Given the description of an element on the screen output the (x, y) to click on. 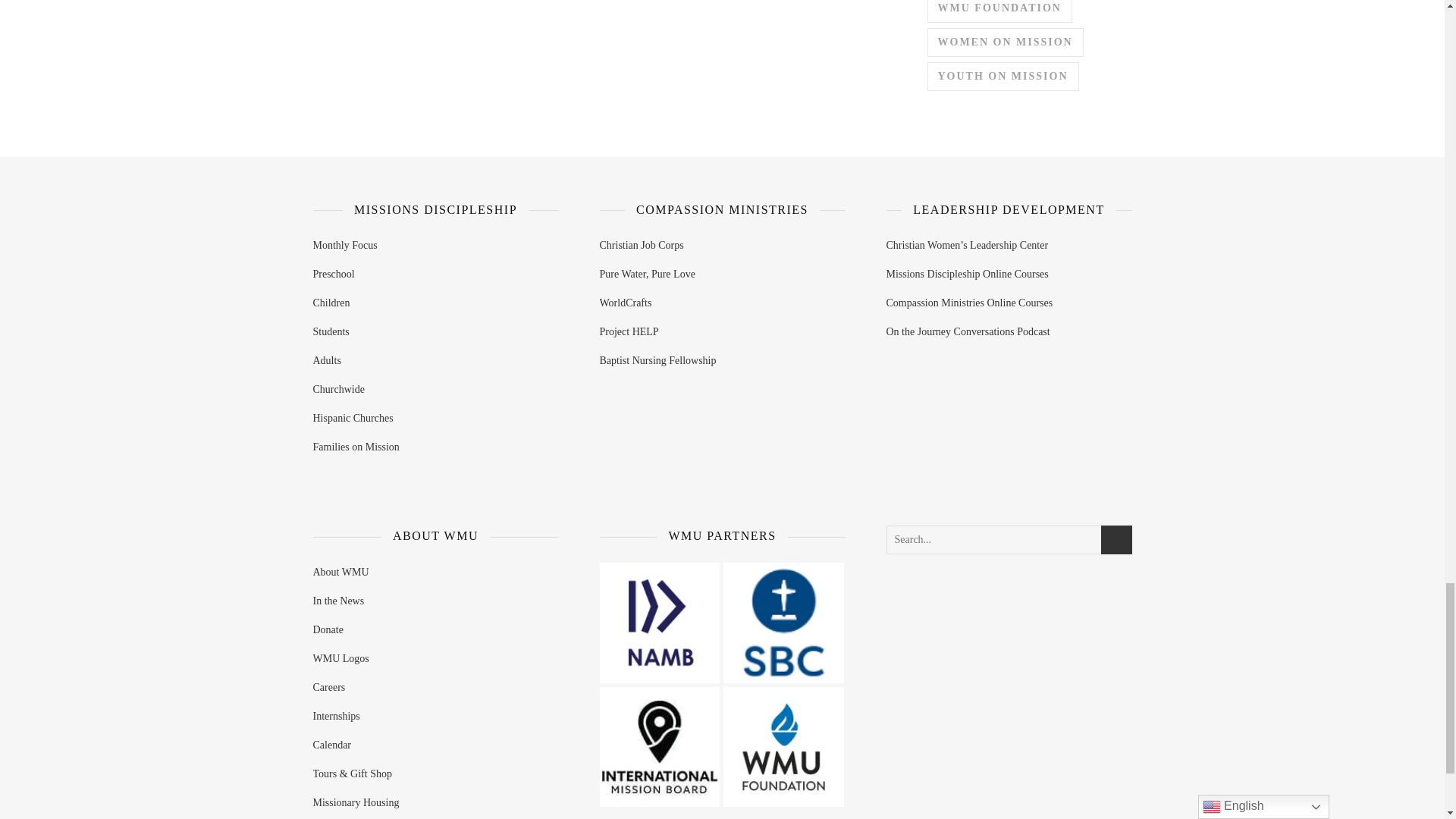
WMU Logo Variations (783, 747)
IMB-logo-web-2022 (658, 747)
namb (658, 622)
